Given the description of an element on the screen output the (x, y) to click on. 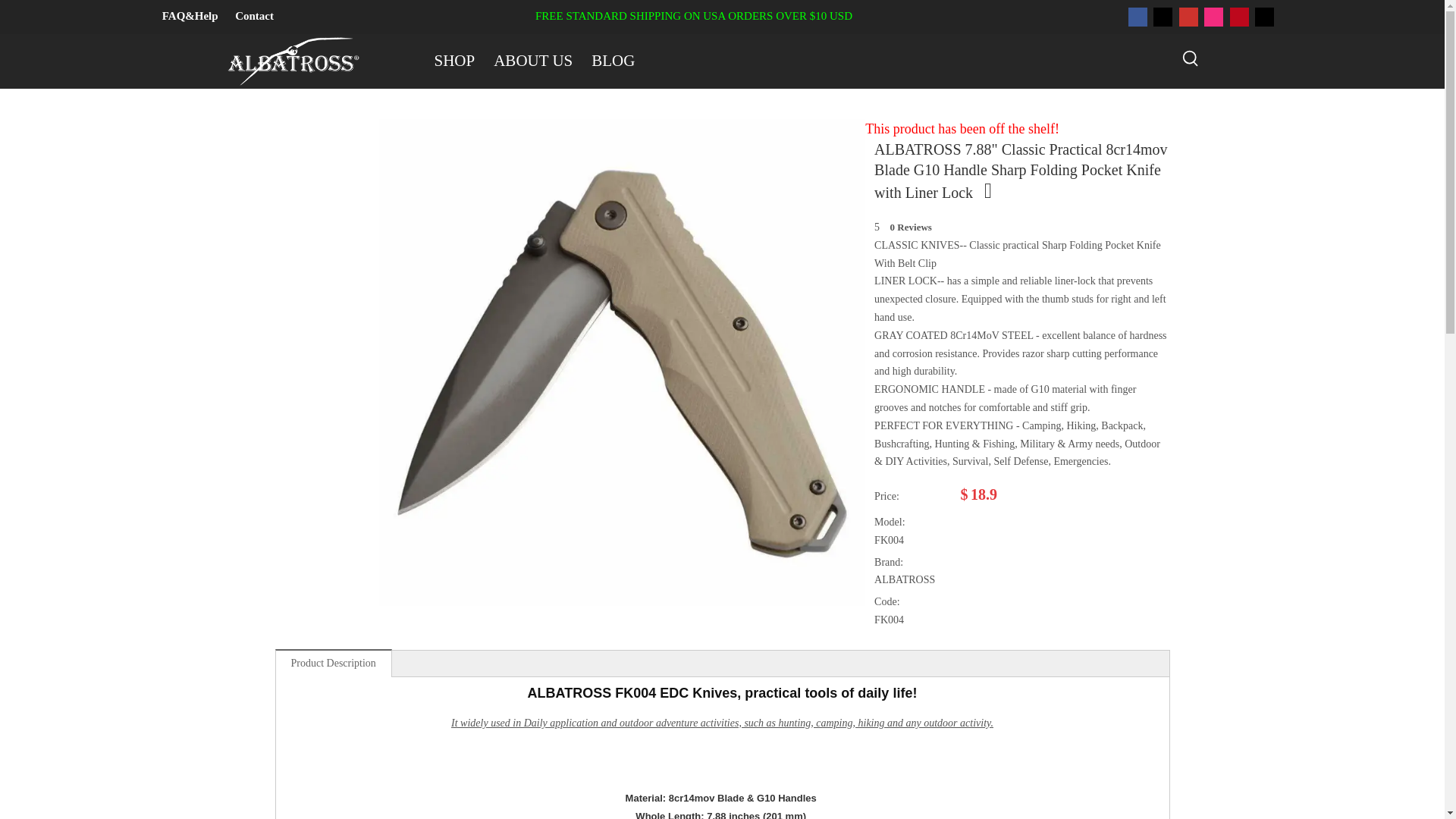
Facebook (1137, 16)
Contact (253, 15)
A-LOGO (289, 61)
ABOUT US (532, 60)
Instagram (1213, 16)
SHOP (453, 60)
Youtube (1188, 16)
BLOG (612, 60)
tiktok (1264, 16)
Pinterest (1239, 16)
